Given the description of an element on the screen output the (x, y) to click on. 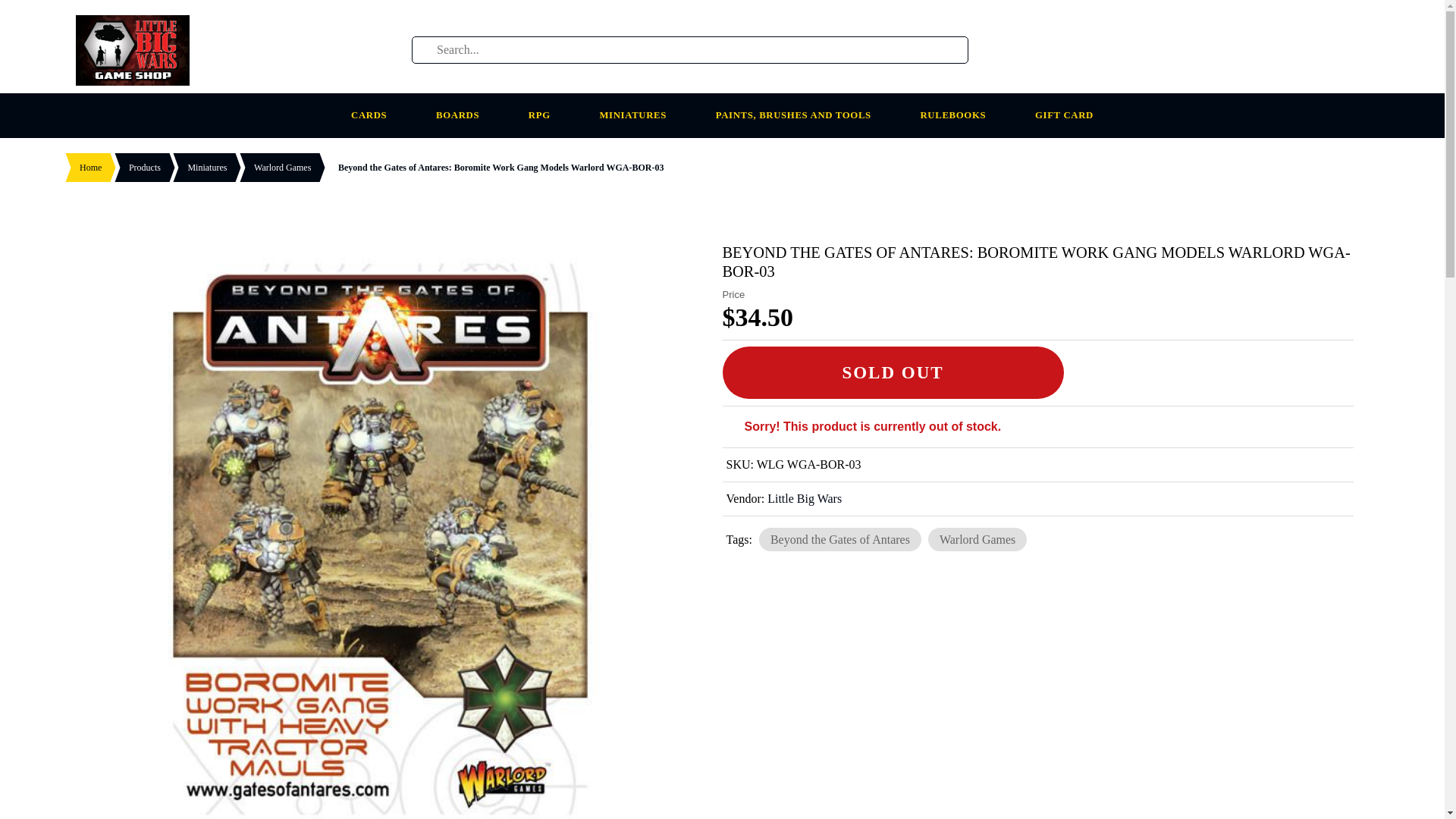
Little Big Wars (804, 498)
RPG (545, 115)
BOARDS (464, 115)
MINIATURES (638, 115)
CARDS (375, 115)
